Given the description of an element on the screen output the (x, y) to click on. 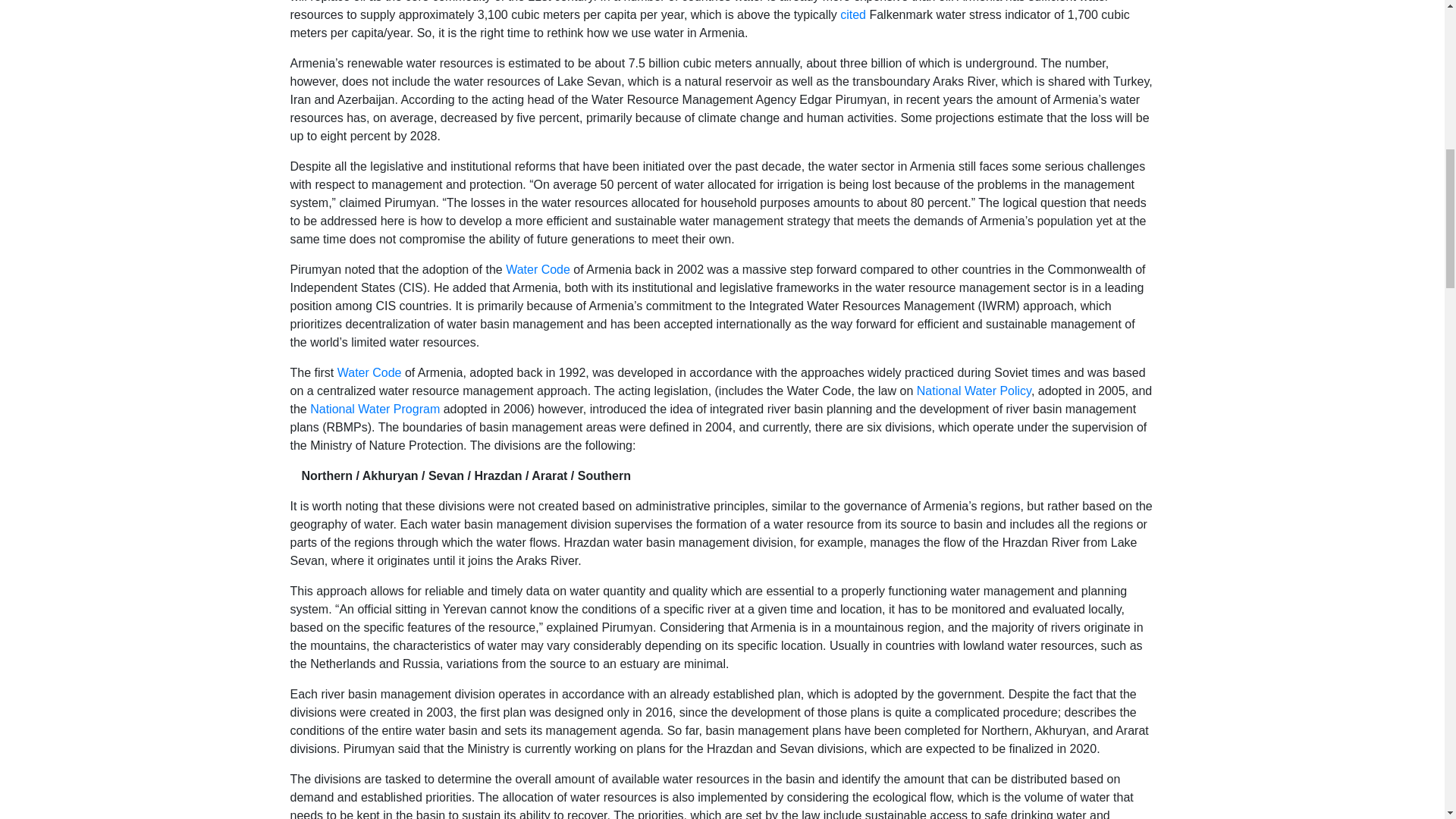
cited (853, 14)
Water Code (537, 269)
Water Code (369, 372)
National Water Program (374, 408)
National Water Policy (973, 390)
